Given the description of an element on the screen output the (x, y) to click on. 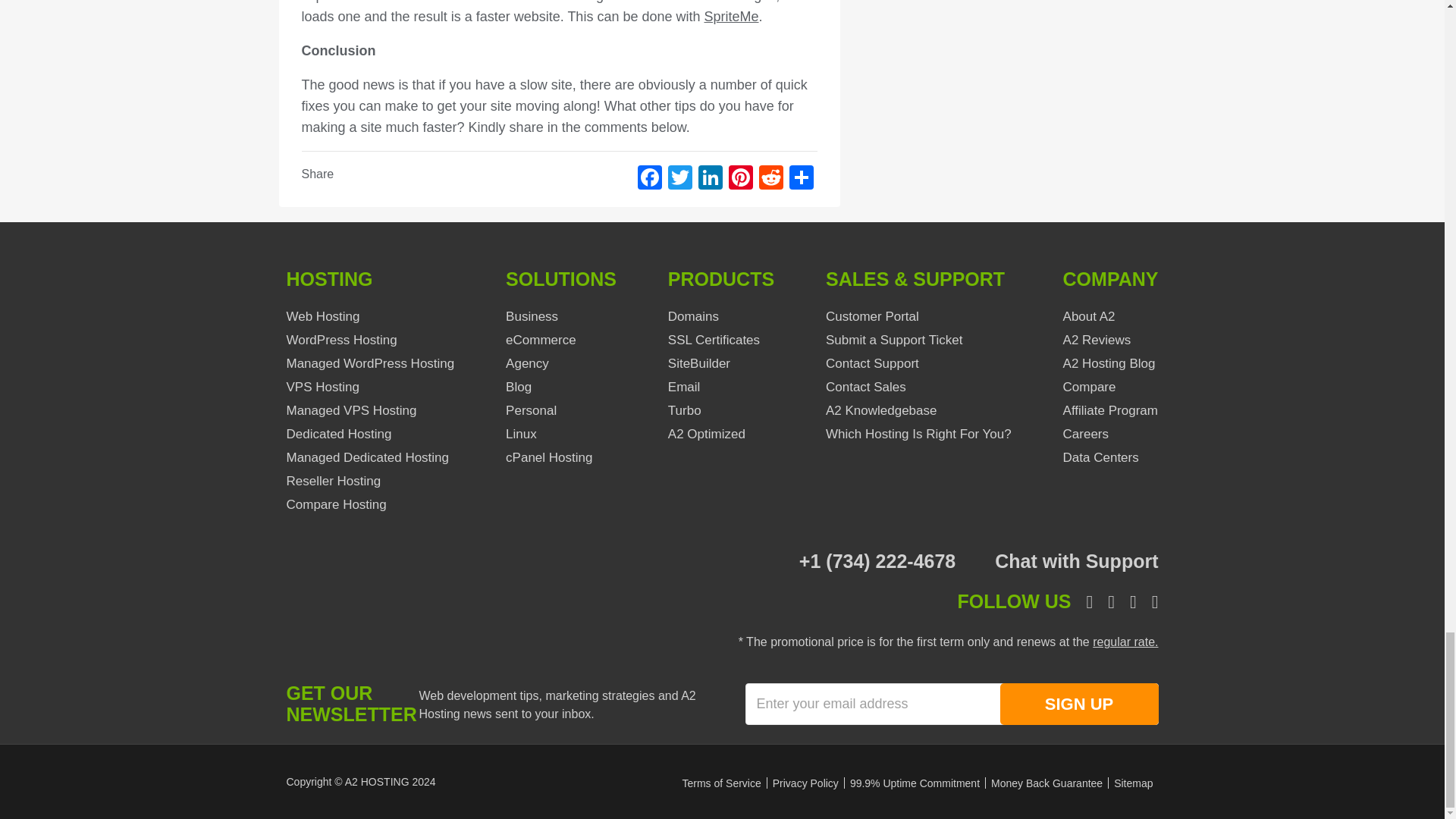
SIGN UP (1077, 703)
